Given the description of an element on the screen output the (x, y) to click on. 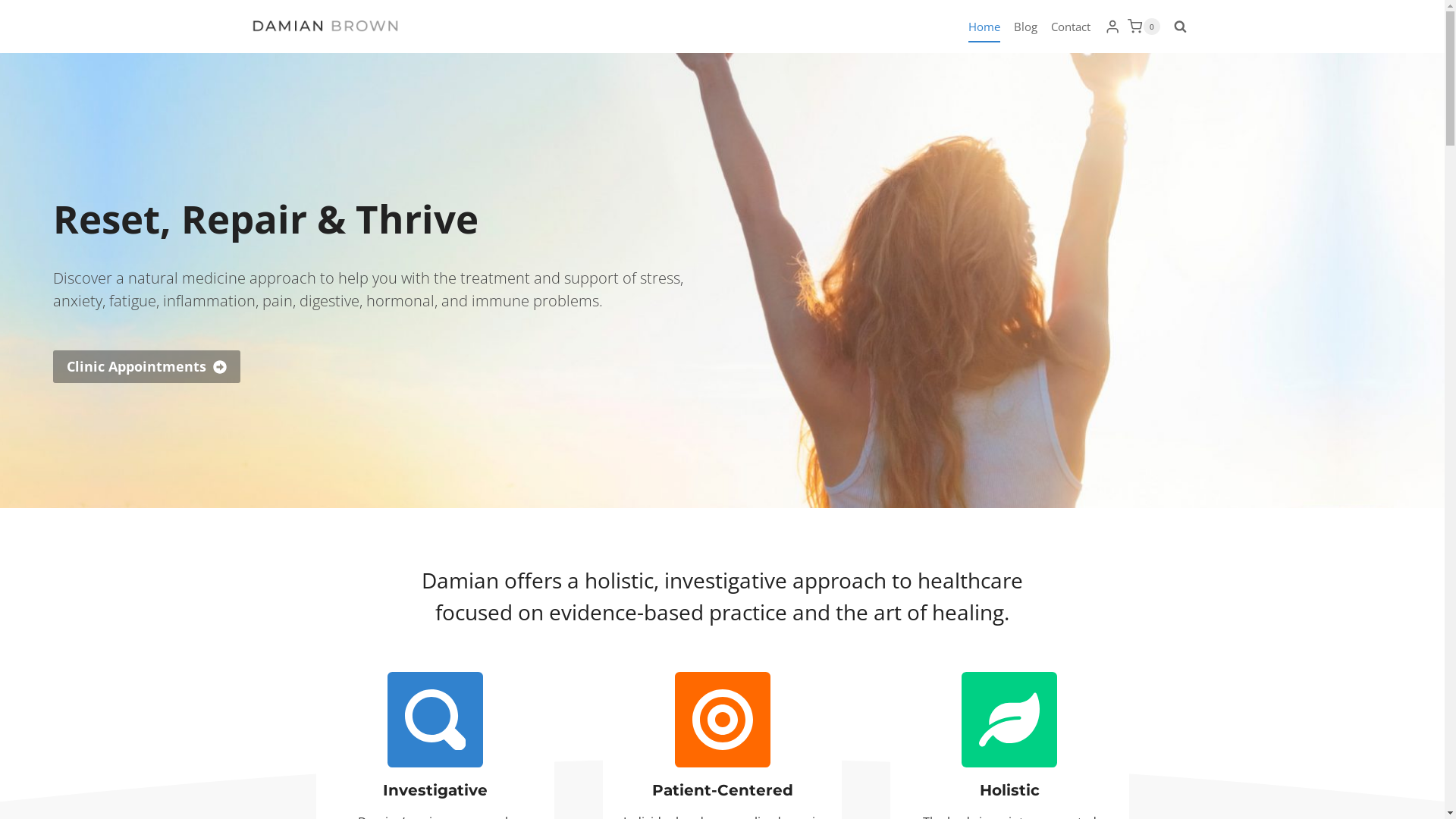
Contact Element type: text (1070, 26)
Blog Element type: text (1025, 26)
0 Element type: text (1143, 25)
Clinic Appointments Element type: text (146, 366)
Home Element type: text (984, 26)
